Given the description of an element on the screen output the (x, y) to click on. 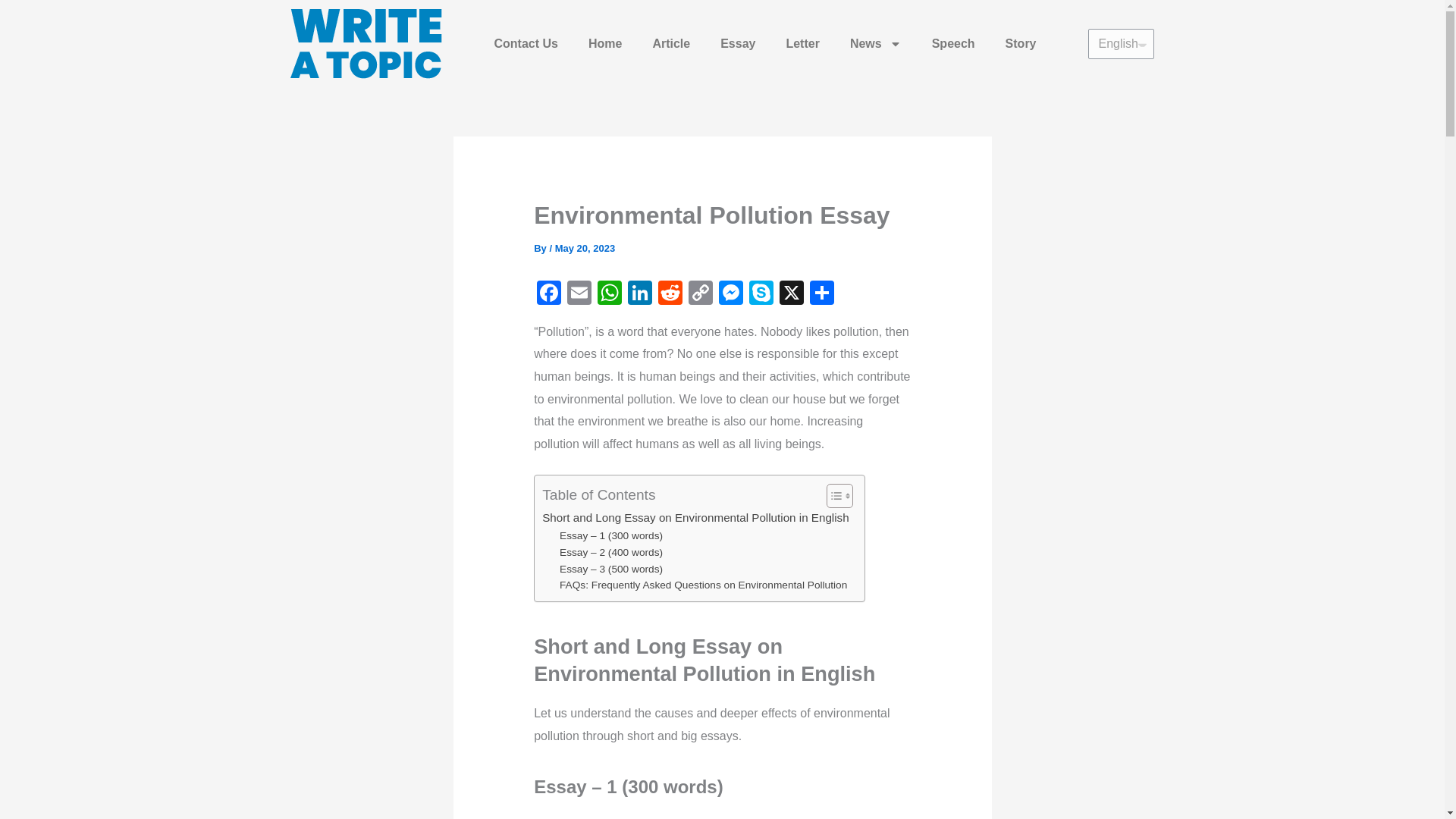
Reddit (670, 294)
Article (670, 43)
Messenger (730, 294)
LinkedIn (639, 294)
WhatsApp (609, 294)
Reddit (670, 294)
Short and Long Essay on Environmental Pollution in English (694, 517)
Speech (953, 43)
Skype (760, 294)
Messenger (730, 294)
